Given the description of an element on the screen output the (x, y) to click on. 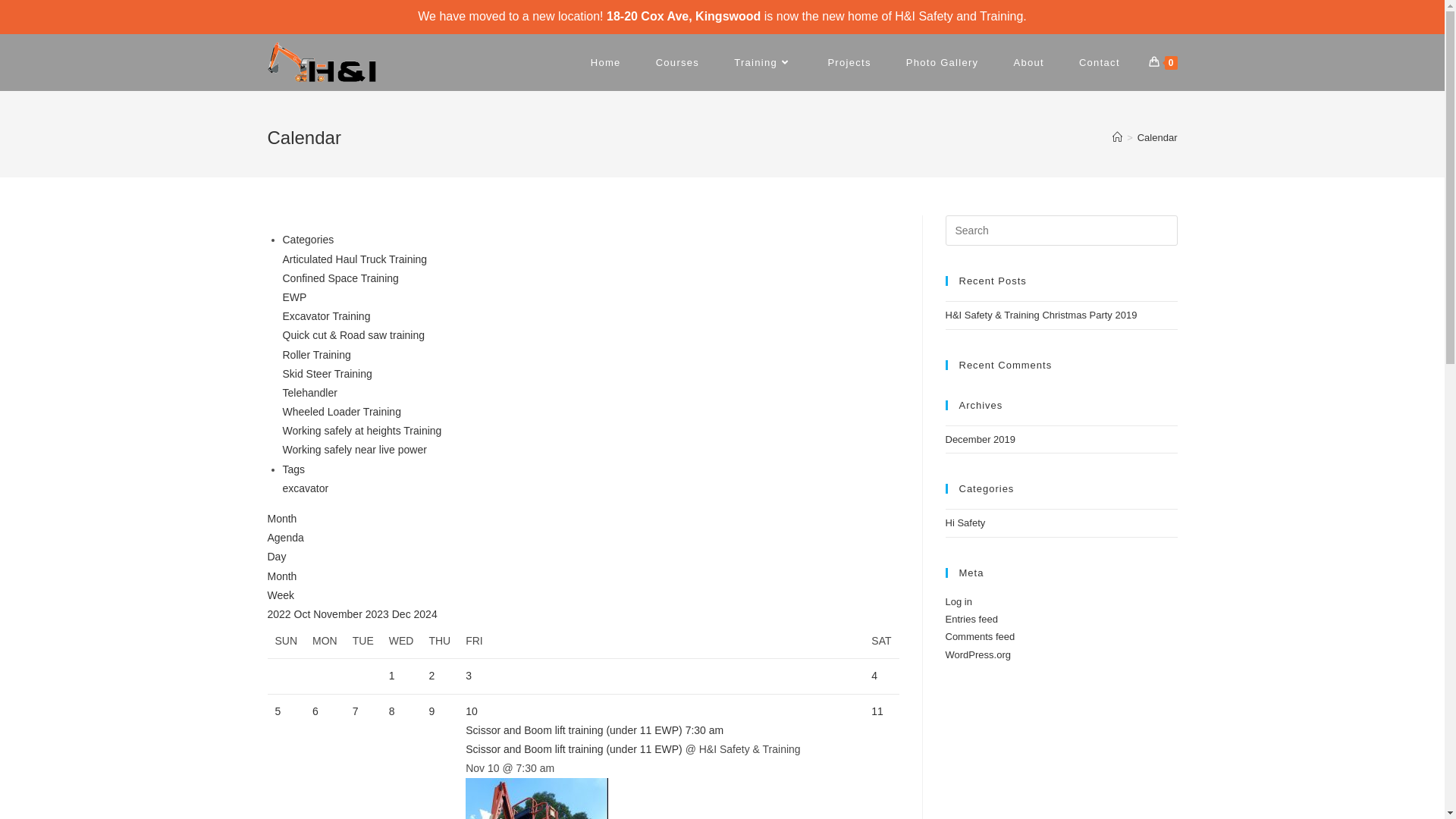
2022 Element type: text (279, 614)
Working safely at heights Training Element type: text (361, 430)
6 Element type: text (315, 711)
3 Element type: text (468, 675)
Dec Element type: text (403, 614)
Scissor and Boom lift training (under 11 EWP) Element type: text (573, 749)
Week Element type: text (280, 595)
H&I Safety & Training Christmas Party 2019 Element type: text (1040, 314)
EWP Element type: text (294, 297)
Comments feed Element type: text (979, 636)
WordPress.org Element type: text (977, 654)
Skid Steer Training Element type: text (326, 373)
0 Element type: text (1163, 62)
Projects Element type: text (848, 62)
About Element type: text (1027, 62)
Roller Training Element type: text (316, 354)
7 Element type: text (355, 711)
Entries feed Element type: text (970, 618)
Calendar Element type: text (1157, 137)
Wheeled Loader Training Element type: text (341, 411)
2024 Element type: text (425, 614)
Home Element type: text (605, 62)
November 2023 Element type: text (352, 614)
December 2019 Element type: text (979, 439)
10 Element type: text (471, 711)
Agenda Element type: text (284, 537)
Excavator Training Element type: text (326, 316)
Day Element type: text (275, 556)
Hi Safety Element type: text (964, 522)
11 Element type: text (877, 711)
Month Element type: text (281, 518)
excavator Element type: text (305, 488)
Month Element type: text (281, 576)
Working safely near live power Element type: text (354, 449)
5 Element type: text (277, 711)
Telehandler Element type: text (309, 392)
8 Element type: text (392, 711)
Articulated Haul Truck Training Element type: text (354, 259)
Photo Gallery Element type: text (942, 62)
Log in Element type: text (957, 601)
1 Element type: text (392, 675)
Tags Element type: text (293, 469)
Oct Element type: text (303, 614)
4 Element type: text (874, 675)
Quick cut & Road saw training Element type: text (353, 335)
Scissor and Boom lift training (under 11 EWP) 7:30 am Element type: text (660, 730)
9 Element type: text (431, 711)
Training Element type: text (762, 62)
Contact Element type: text (1099, 62)
2 Element type: text (431, 675)
Courses Element type: text (677, 62)
Categories Element type: text (307, 239)
Confined Space Training Element type: text (340, 278)
